Given the description of an element on the screen output the (x, y) to click on. 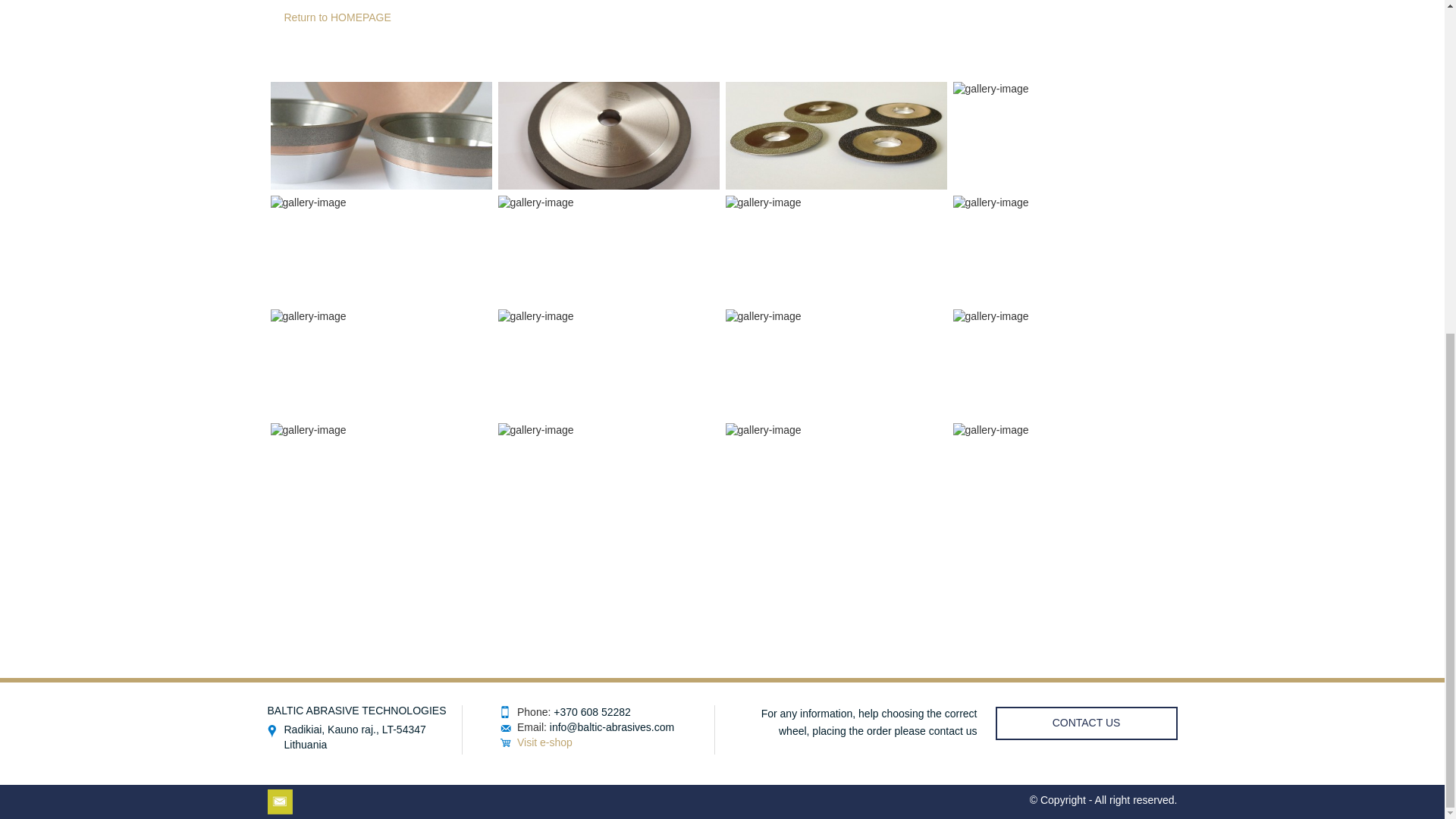
Visit e-shop (544, 742)
CONTACT US (1085, 723)
Return to HOMEPAGE (336, 17)
